Given the description of an element on the screen output the (x, y) to click on. 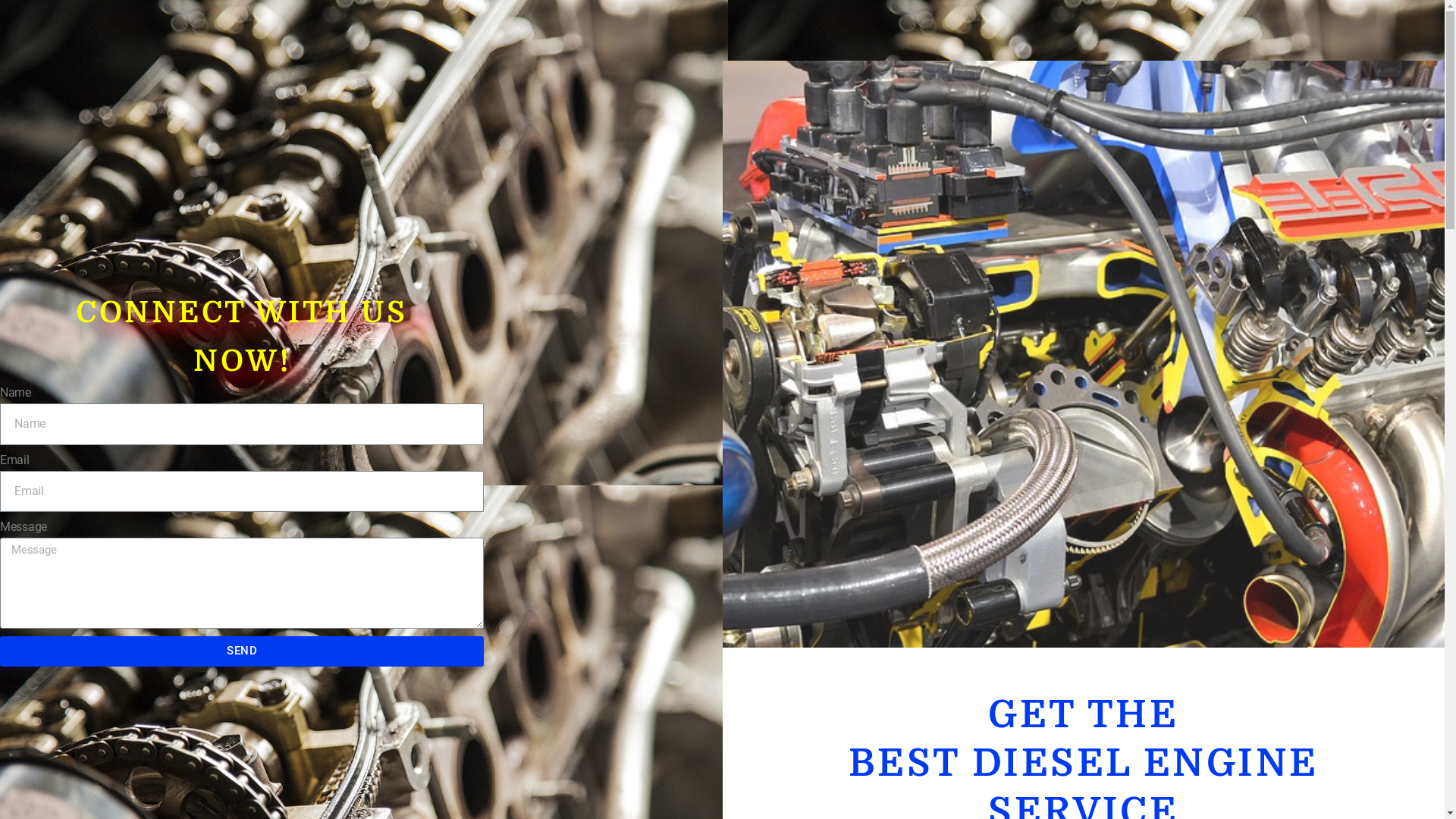
SEND Element type: text (241, 651)
